Given the description of an element on the screen output the (x, y) to click on. 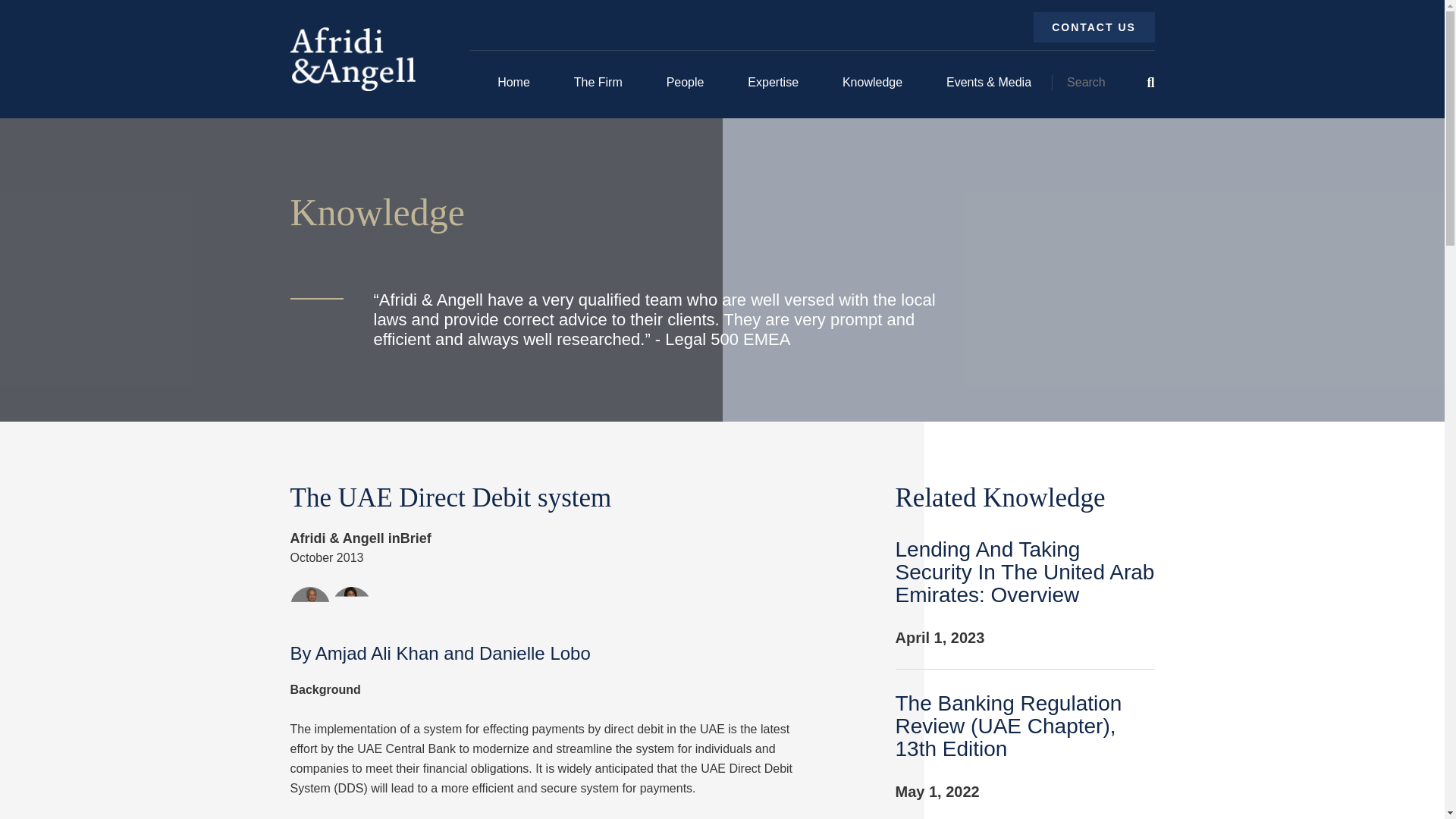
CONTACT US (1093, 27)
Amjad Ali Khan (309, 606)
Expertise (772, 82)
The Firm (598, 82)
Danielle Lobo (351, 606)
Home (513, 82)
Knowledge (872, 82)
People (685, 82)
